Given the description of an element on the screen output the (x, y) to click on. 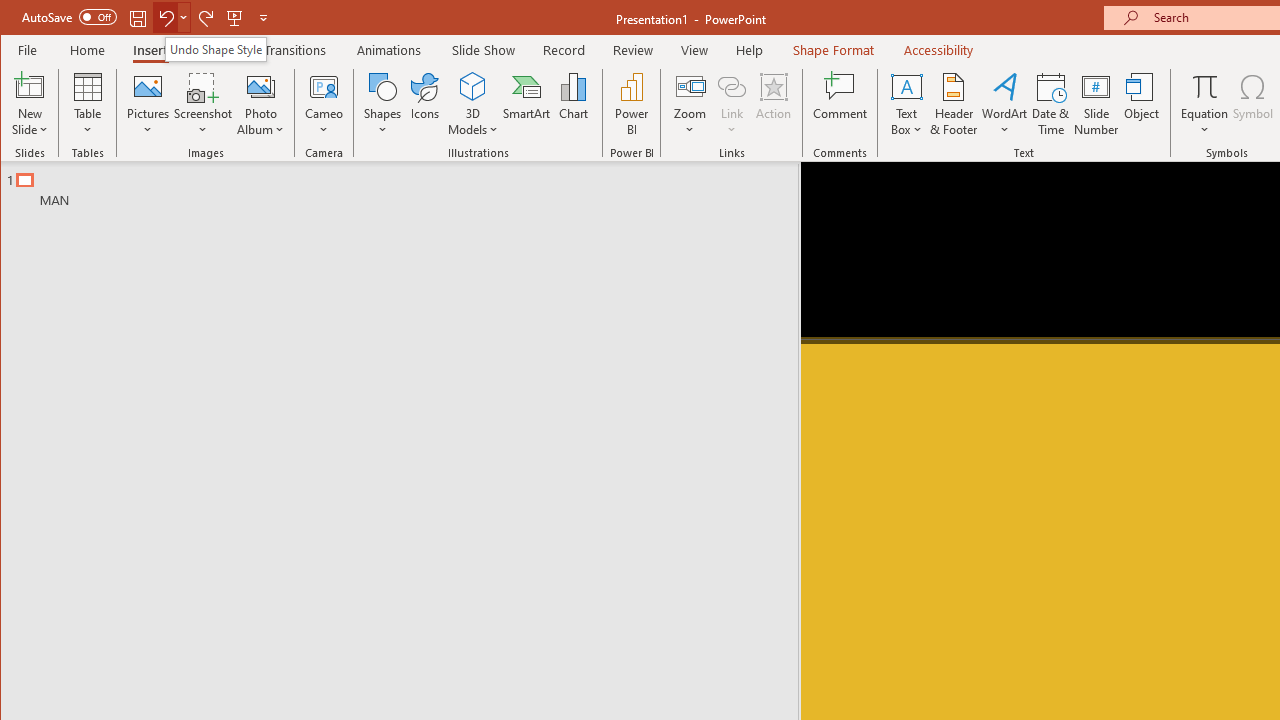
Zoom (689, 104)
New Slide (29, 104)
Customize Quick Access Toolbar (263, 17)
Action (773, 104)
Equation (1204, 86)
Power BI (631, 104)
Pictures (148, 104)
Text Box (906, 104)
Insert (150, 50)
Save (138, 17)
Design (215, 50)
Review (632, 50)
File Tab (28, 49)
Cameo (324, 104)
